Given the description of an element on the screen output the (x, y) to click on. 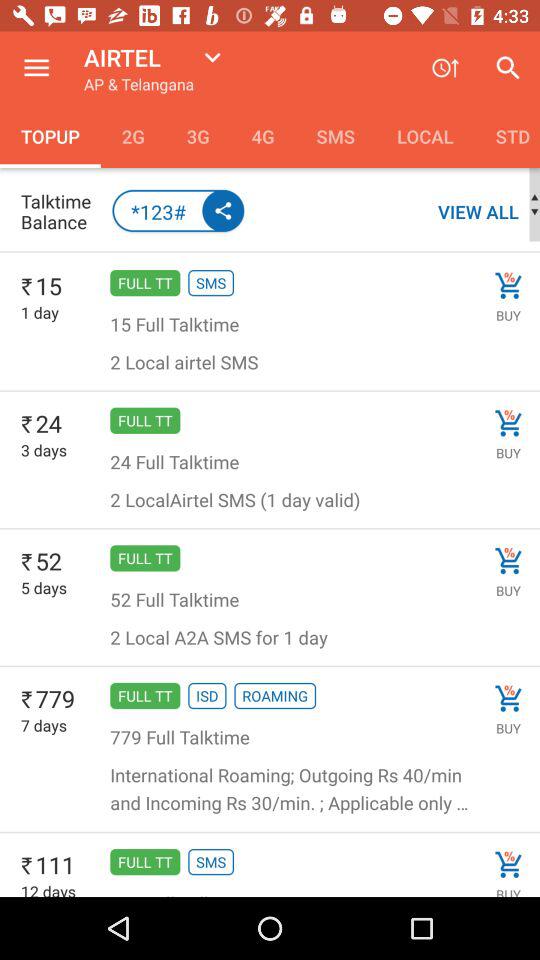
click the item above view all icon (507, 136)
